Given the description of an element on the screen output the (x, y) to click on. 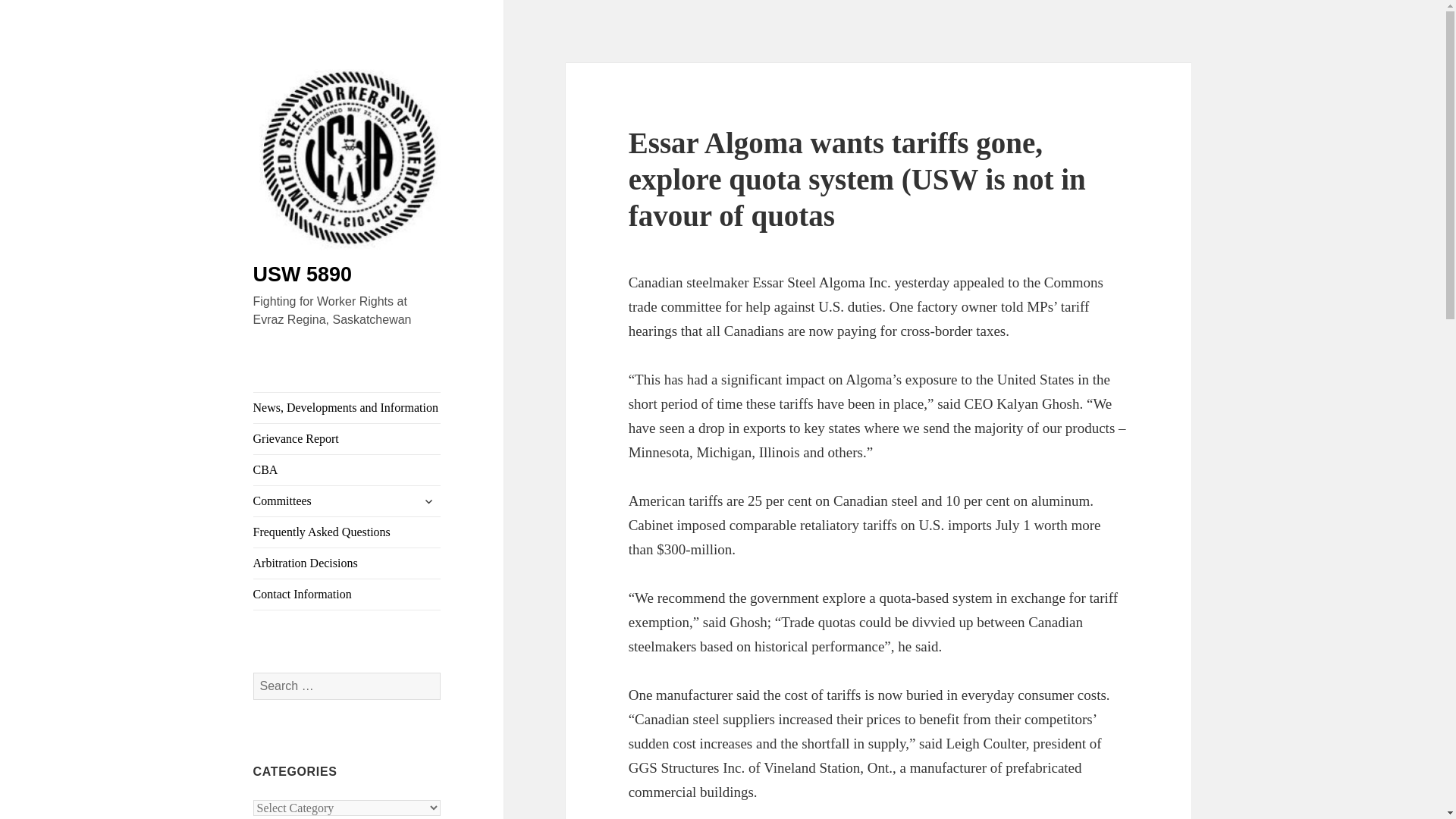
Grievance Report (347, 439)
News, Developments and Information (347, 408)
Frequently Asked Questions (347, 531)
Contact Information (347, 594)
Committees (347, 501)
USW 5890 (302, 273)
expand child menu (428, 500)
